Given the description of an element on the screen output the (x, y) to click on. 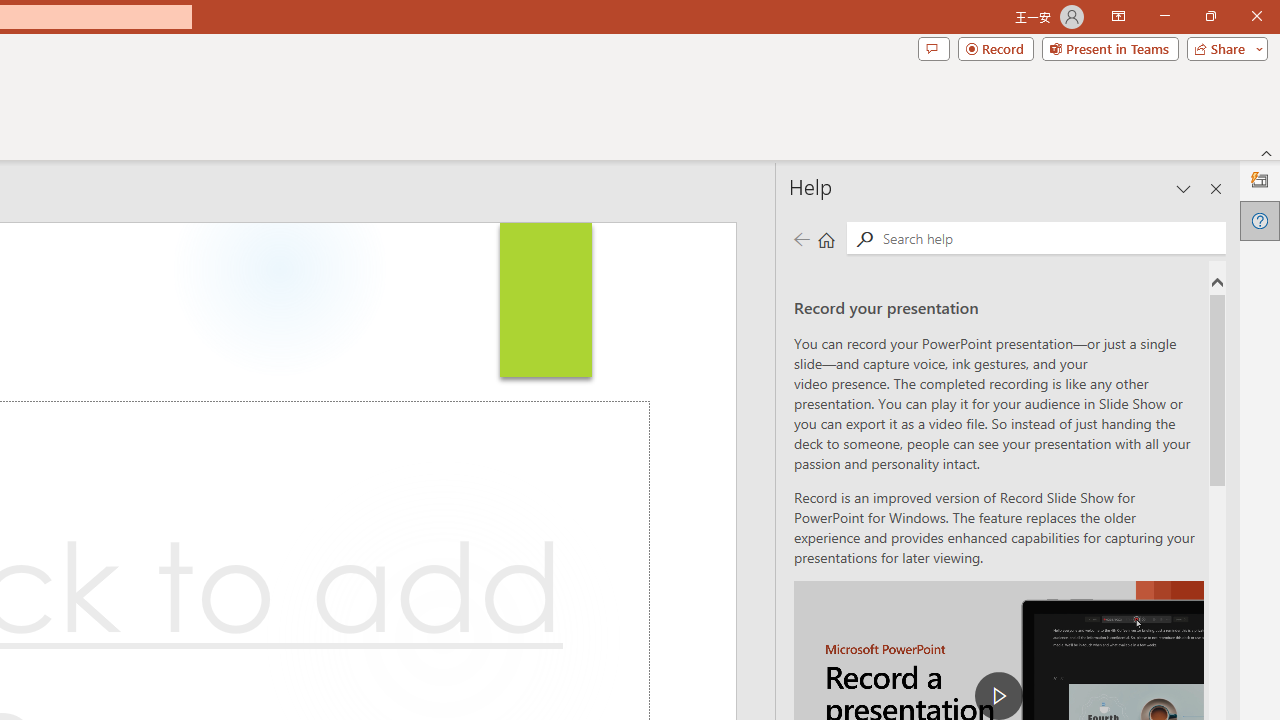
Collapse the Ribbon (1267, 152)
Close pane (1215, 188)
Minimize (1164, 16)
Search (864, 238)
Designer (1260, 180)
play Record a Presentation (998, 695)
Help (1260, 220)
Comments (933, 48)
Close (1256, 16)
Restore Down (1210, 16)
Search (1049, 237)
Present in Teams (1109, 48)
Home (826, 238)
Share (1223, 48)
